Given the description of an element on the screen output the (x, y) to click on. 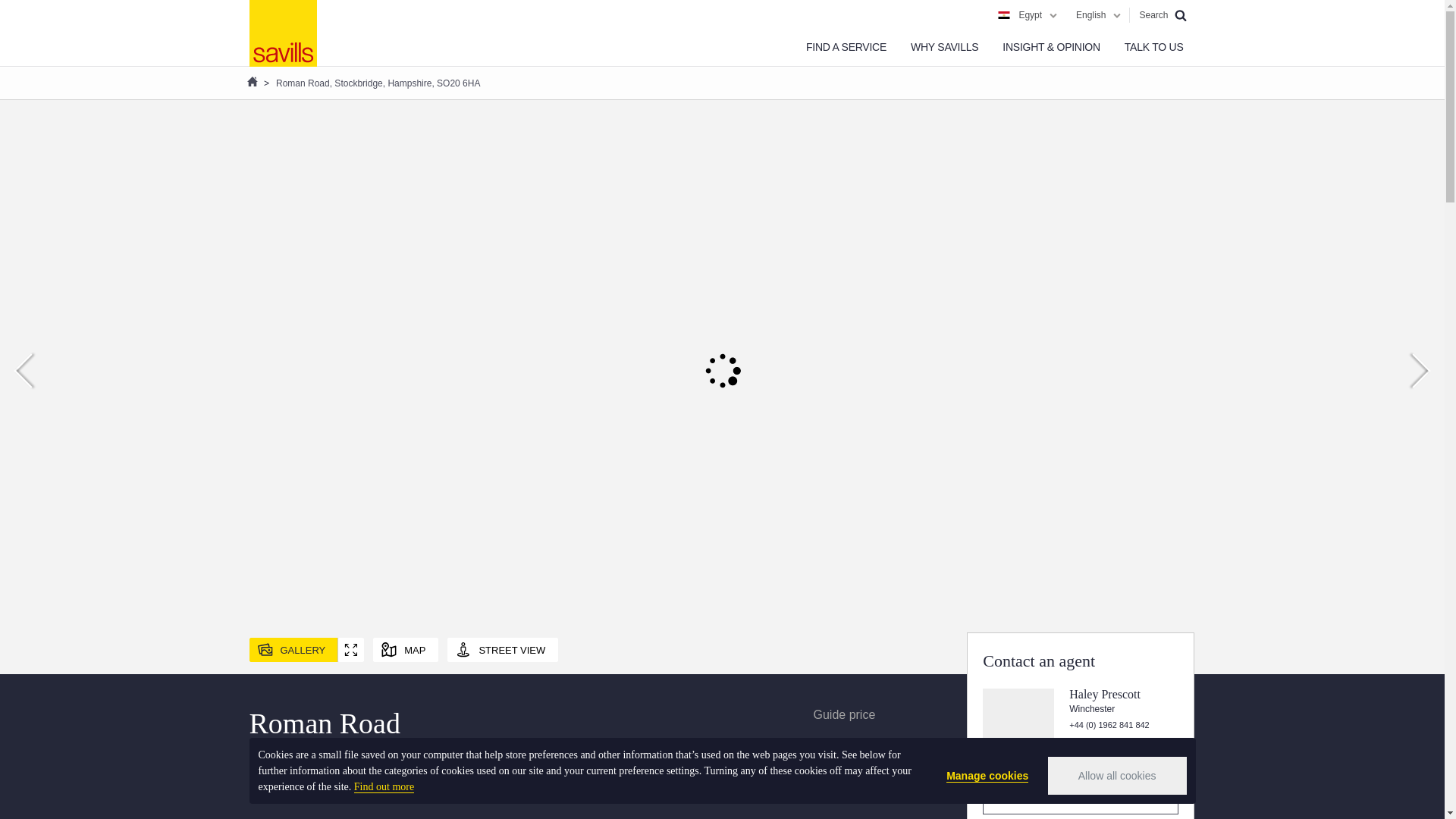
Find out more (383, 787)
Search (1162, 14)
FIND A SERVICE (845, 46)
Allow all cookies (1117, 775)
Manage cookies (986, 775)
Go to homepage (281, 33)
